Given the description of an element on the screen output the (x, y) to click on. 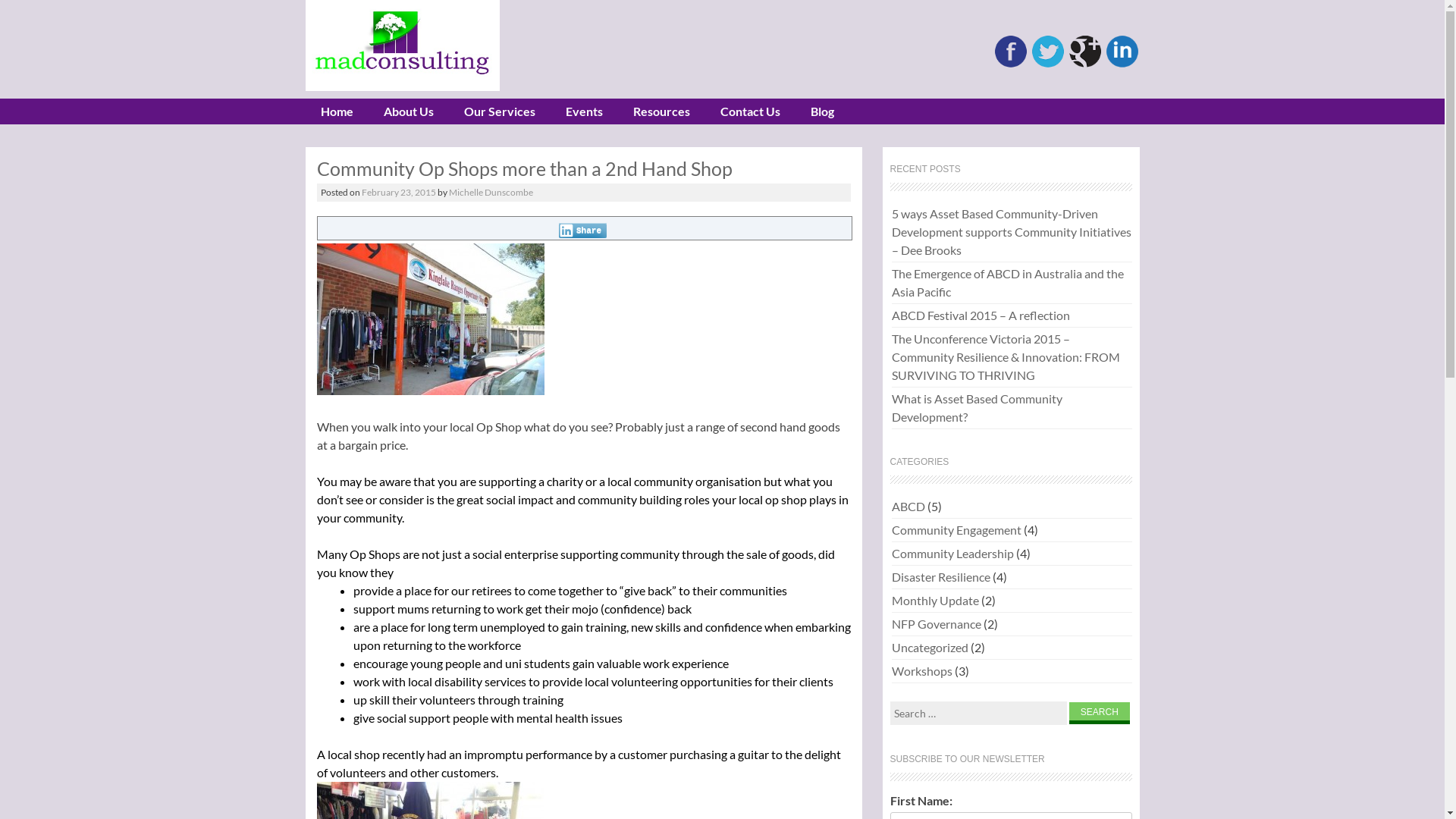
Uncategorized Element type: text (929, 647)
Events Element type: text (584, 111)
Resources Element type: text (660, 111)
February 23, 2015 Element type: text (397, 191)
Google Plus Element type: hover (1084, 63)
Workshops Element type: text (921, 670)
Home Element type: text (335, 111)
Contact Us Element type: text (750, 111)
What is Asset Based Community Development? Element type: text (1011, 407)
Twitter Element type: hover (1046, 63)
Michelle Dunscombe Element type: text (490, 191)
Share Element type: text (582, 230)
Our Services Element type: text (499, 111)
Search Element type: text (1099, 713)
About Us Element type: text (408, 111)
ABCD Element type: text (908, 506)
Blog Element type: text (821, 111)
Community Leadership Element type: text (952, 553)
Facebook Element type: hover (1010, 63)
Linked In Element type: hover (1121, 63)
NFP Governance Element type: text (936, 623)
Community Engagement Element type: text (956, 529)
Skip to content Element type: text (360, 111)
Disaster Resilience Element type: text (940, 576)
The Emergence of ABCD in Australia and the Asia Pacific Element type: text (1011, 282)
Monthly Update Element type: text (935, 600)
Search for: Element type: hover (978, 712)
